Given the description of an element on the screen output the (x, y) to click on. 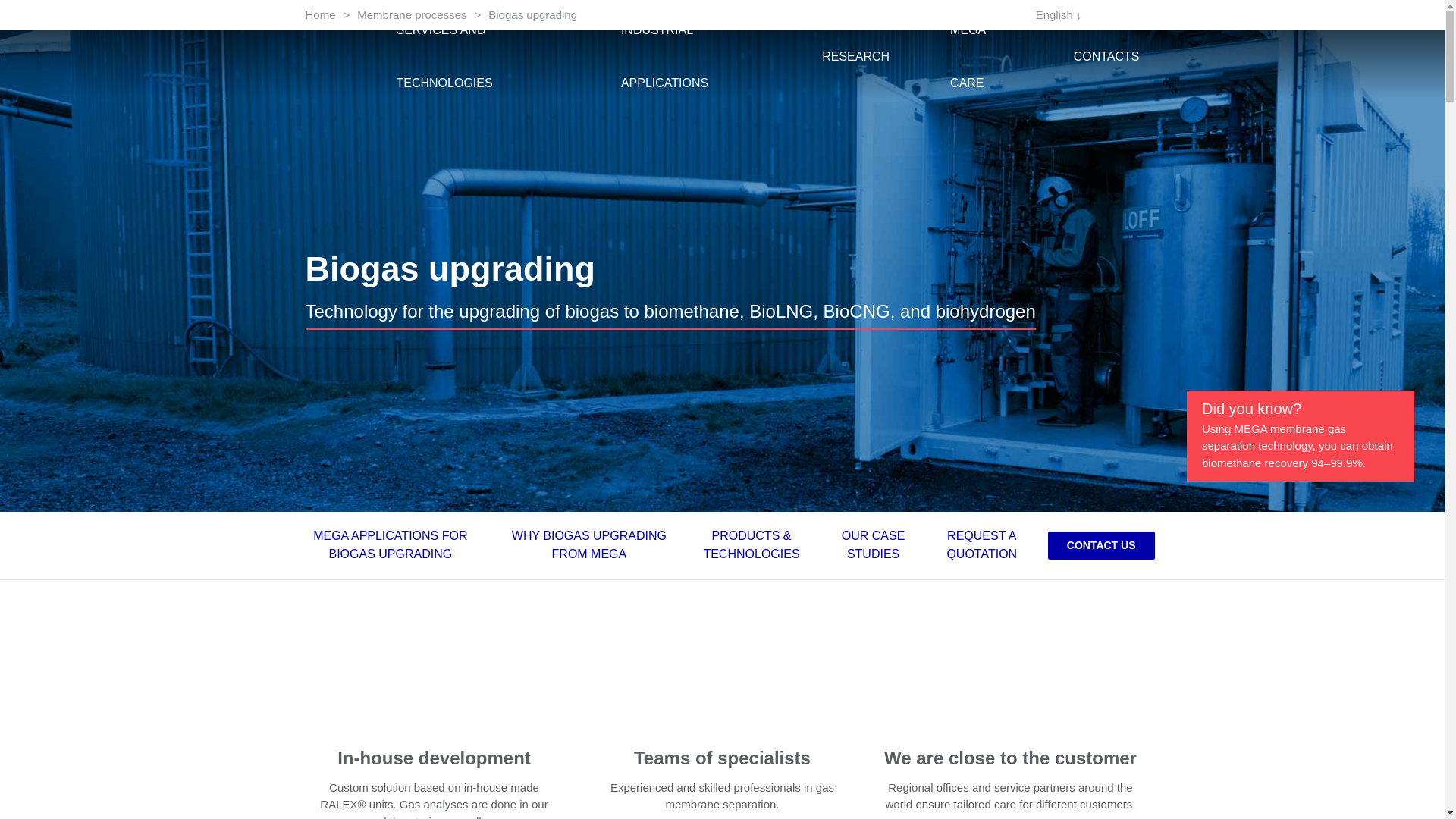
SERVICES AND TECHNOLOGIES (477, 56)
Membrane processes (410, 14)
RESEARCH (855, 56)
Home (319, 14)
CONTACTS (1107, 56)
Biogas upgrading (531, 14)
INDUSTRIAL APPLICATIONS (691, 56)
